Given the description of an element on the screen output the (x, y) to click on. 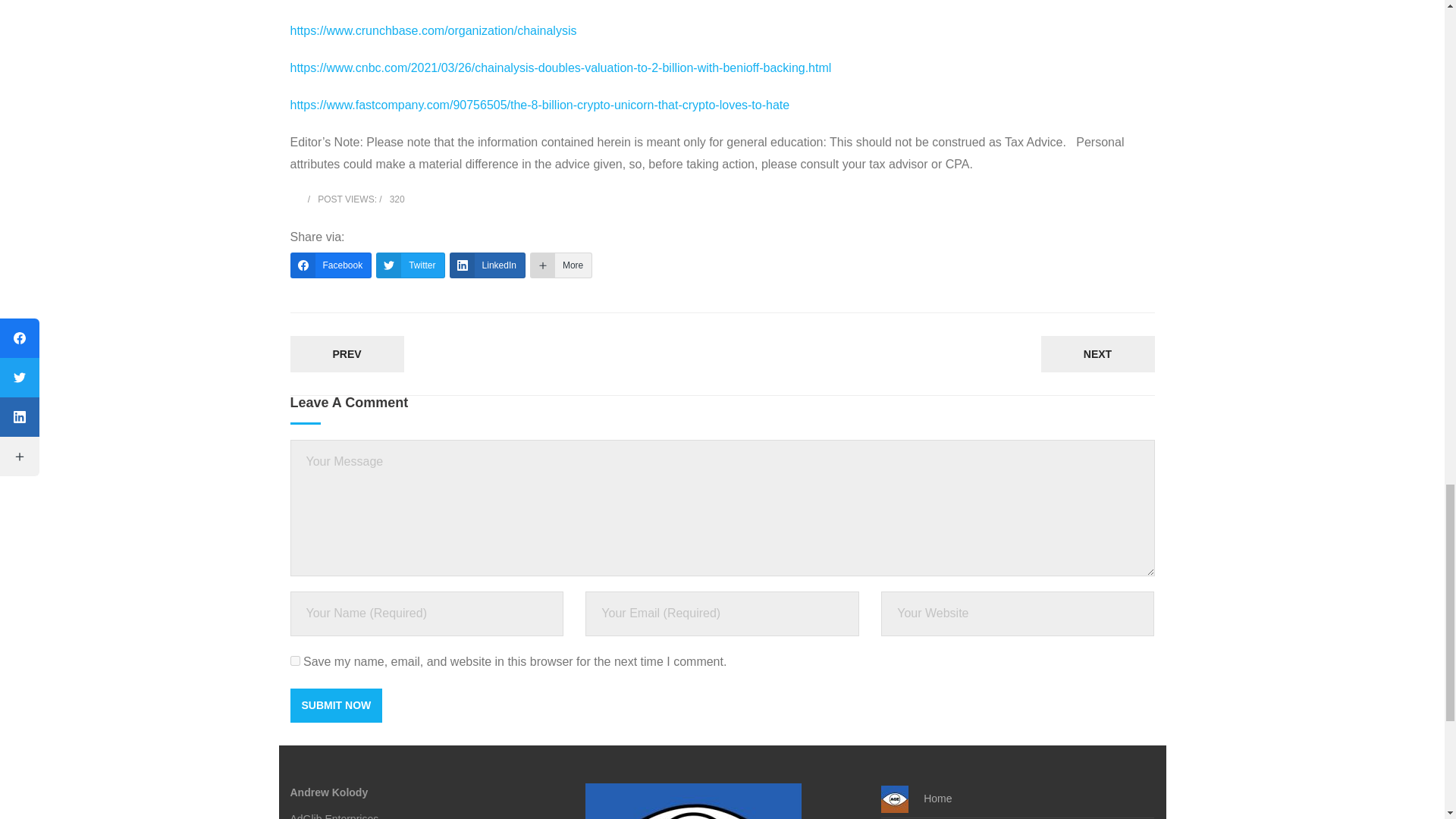
NEXT (1097, 353)
More (560, 265)
PREV (346, 353)
Submit Now (335, 705)
Facebook (330, 265)
LinkedIn (487, 265)
yes (294, 660)
Home (916, 799)
Twitter (409, 265)
Submit Now (335, 705)
